Given the description of an element on the screen output the (x, y) to click on. 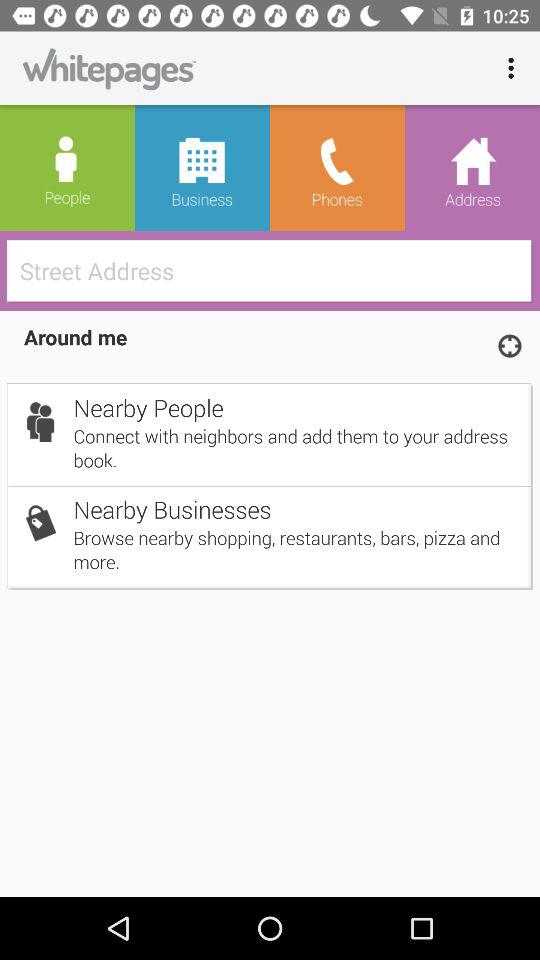
launch the item next to around me item (509, 345)
